Given the description of an element on the screen output the (x, y) to click on. 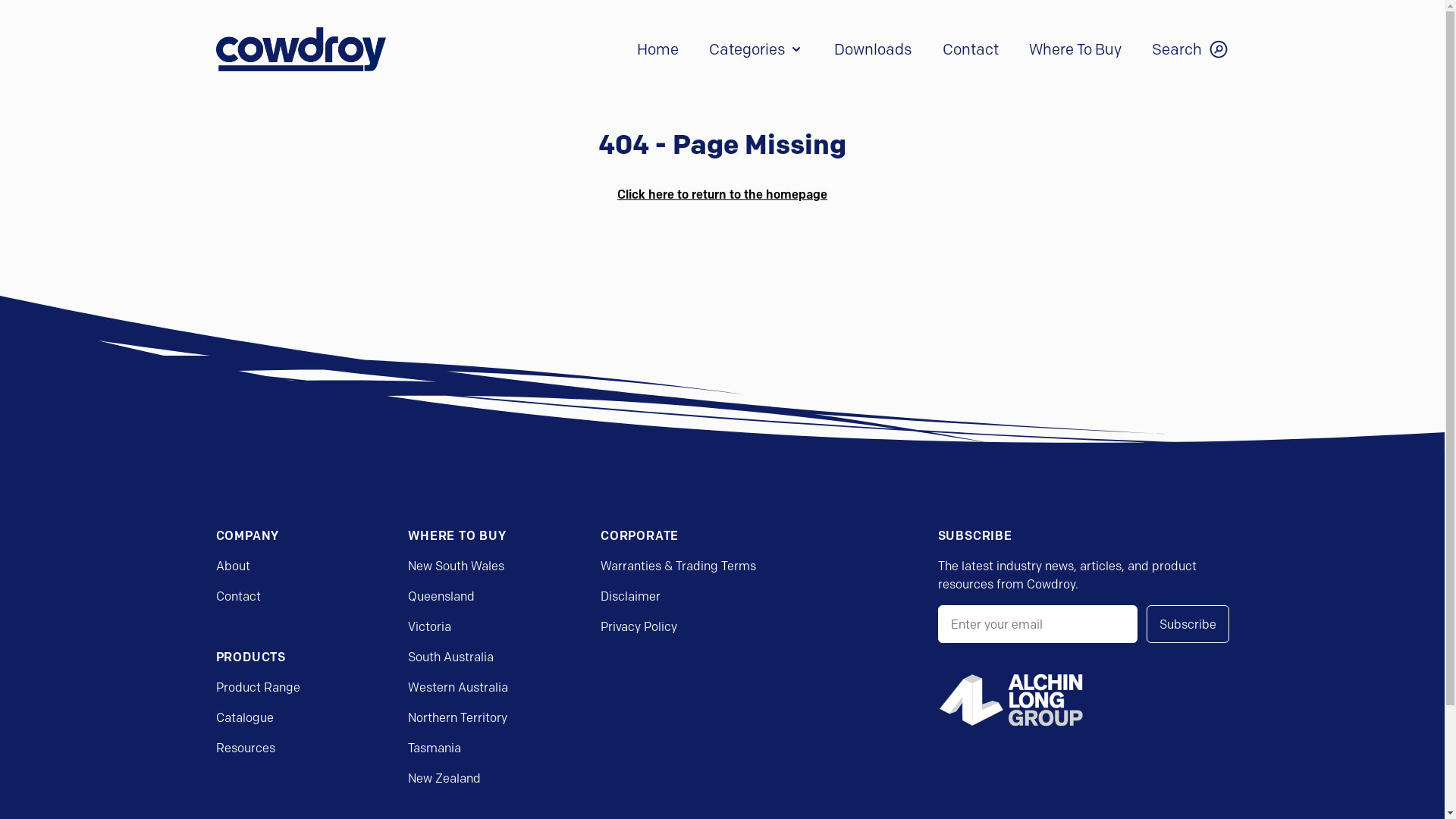
New South Wales Element type: text (455, 565)
Subscribe Element type: text (1187, 624)
Queensland Element type: text (440, 595)
Contact Element type: text (969, 48)
Downloads Element type: text (873, 48)
Home Element type: text (657, 48)
Victoria Element type: text (429, 625)
Search Element type: text (1189, 48)
Warranties & Trading Terms Element type: text (678, 565)
Western Australia Element type: text (457, 686)
Tasmania Element type: text (434, 747)
Resources Element type: text (244, 747)
South Australia Element type: text (450, 656)
New Zealand Element type: text (443, 777)
Contact Element type: text (237, 595)
Click here to return to the homepage Element type: text (722, 193)
Northern Territory Element type: text (457, 716)
Disclaimer Element type: text (630, 595)
Product Range Element type: text (257, 686)
Where To Buy Element type: text (1074, 48)
Privacy Policy Element type: text (638, 625)
Categories Element type: text (755, 48)
About Element type: text (232, 565)
Catalogue Element type: text (244, 716)
